Given the description of an element on the screen output the (x, y) to click on. 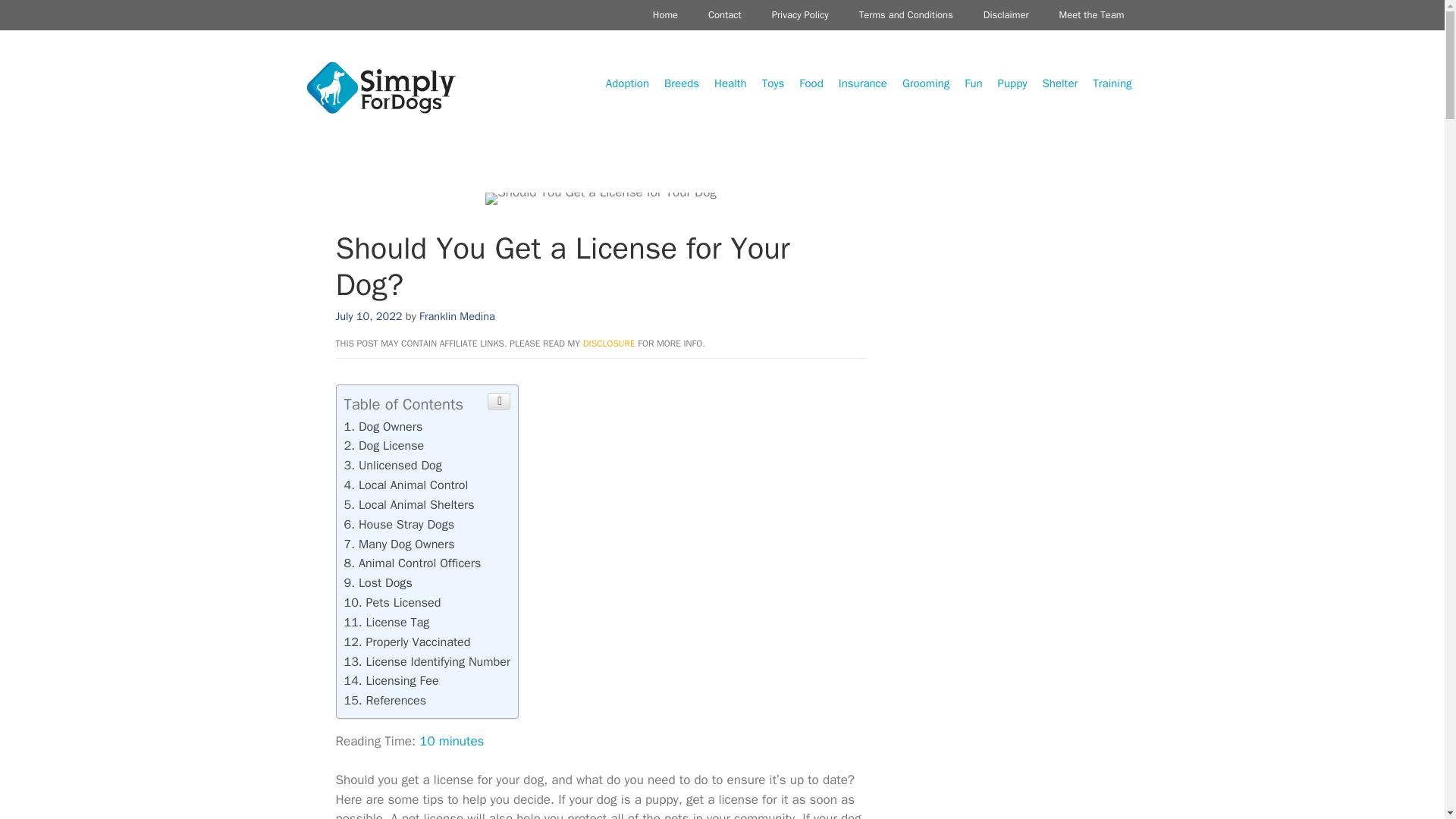
Many Dog Owners (398, 544)
Disclaimer (1005, 14)
DISCLOSURE (608, 342)
House Stray Dogs (398, 524)
Unlicensed Dog (392, 465)
Adoption (627, 83)
Fun (973, 83)
Unlicensed Dog (392, 465)
Terms and Conditions (906, 14)
Meet the Team (1091, 14)
